Given the description of an element on the screen output the (x, y) to click on. 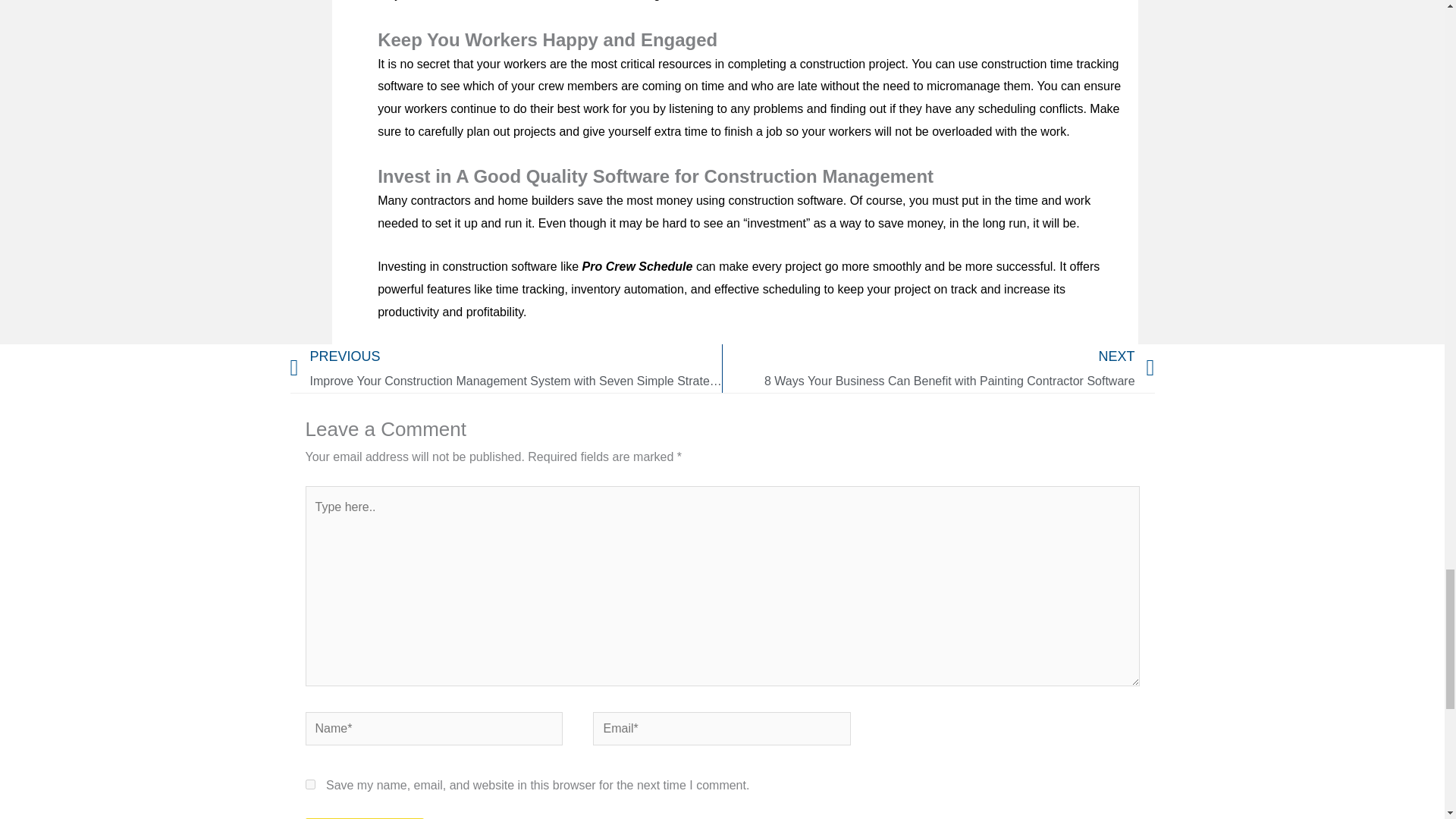
yes (309, 784)
